Given the description of an element on the screen output the (x, y) to click on. 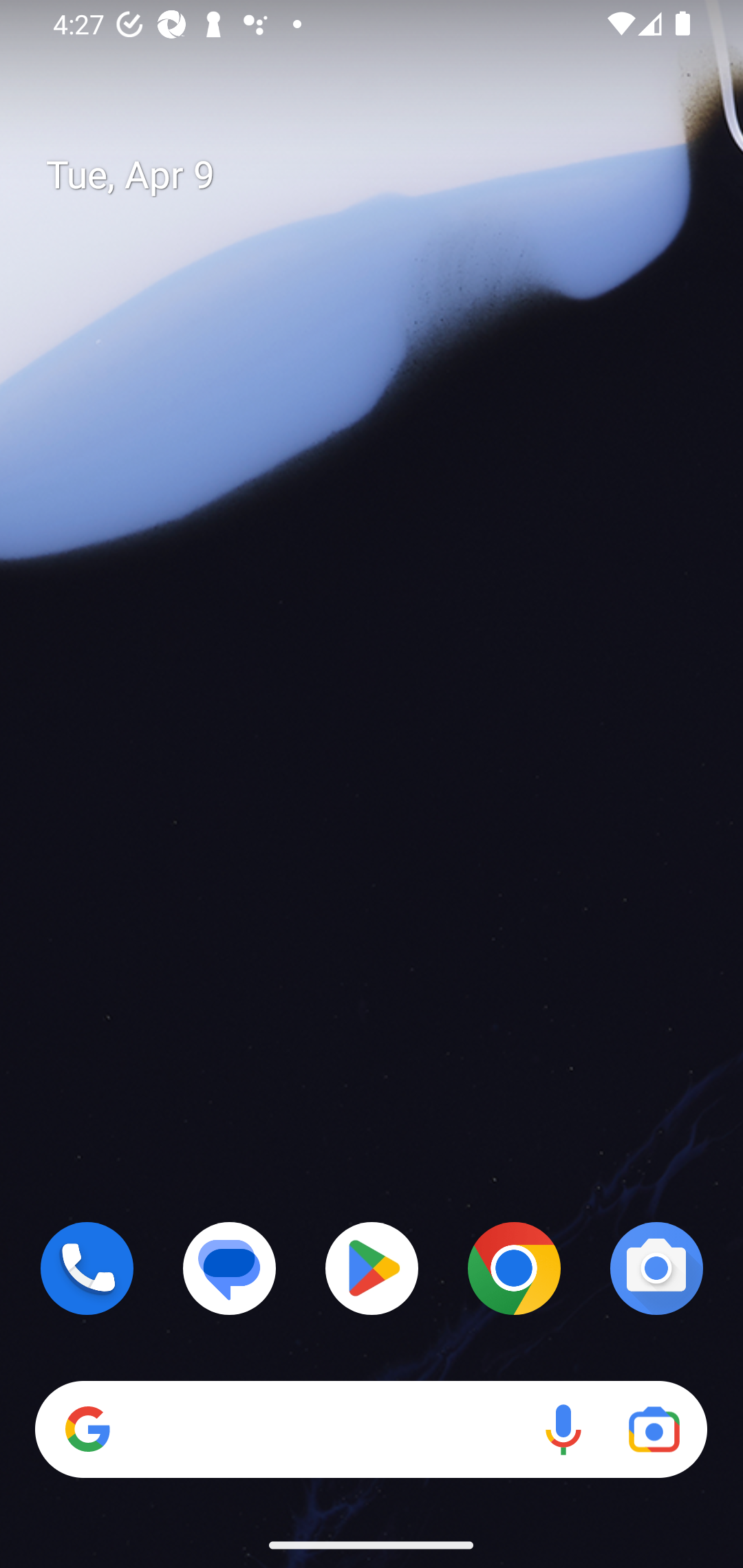
Tue, Apr 9 (386, 175)
Phone (86, 1268)
Messages (229, 1268)
Play Store (371, 1268)
Chrome (513, 1268)
Camera (656, 1268)
Voice search (562, 1429)
Google Lens (653, 1429)
